Given the description of an element on the screen output the (x, y) to click on. 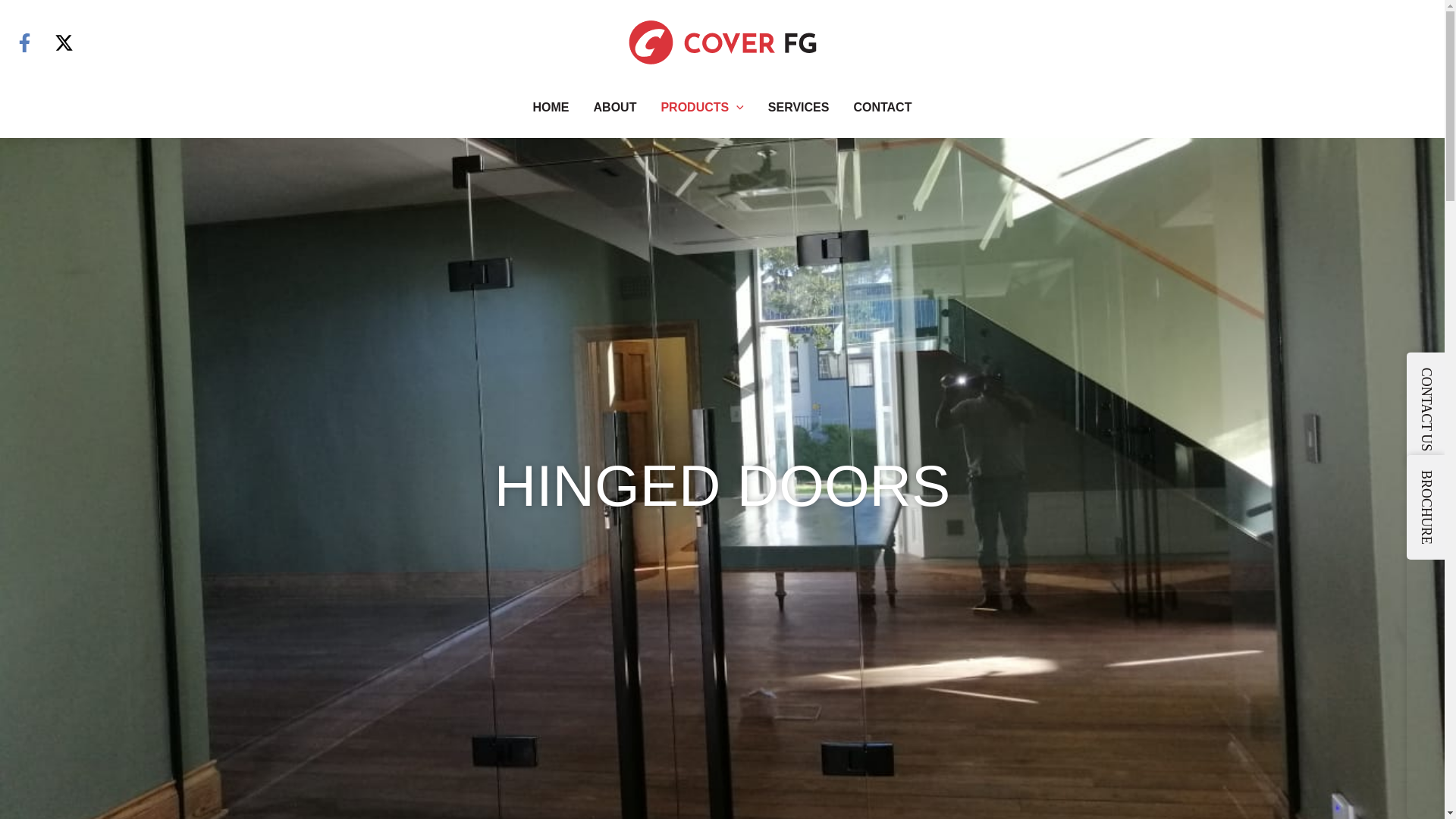
PRODUCTS (701, 107)
SERVICES (798, 107)
ABOUT (614, 107)
CONTACT (882, 107)
HOME (550, 107)
